Given the description of an element on the screen output the (x, y) to click on. 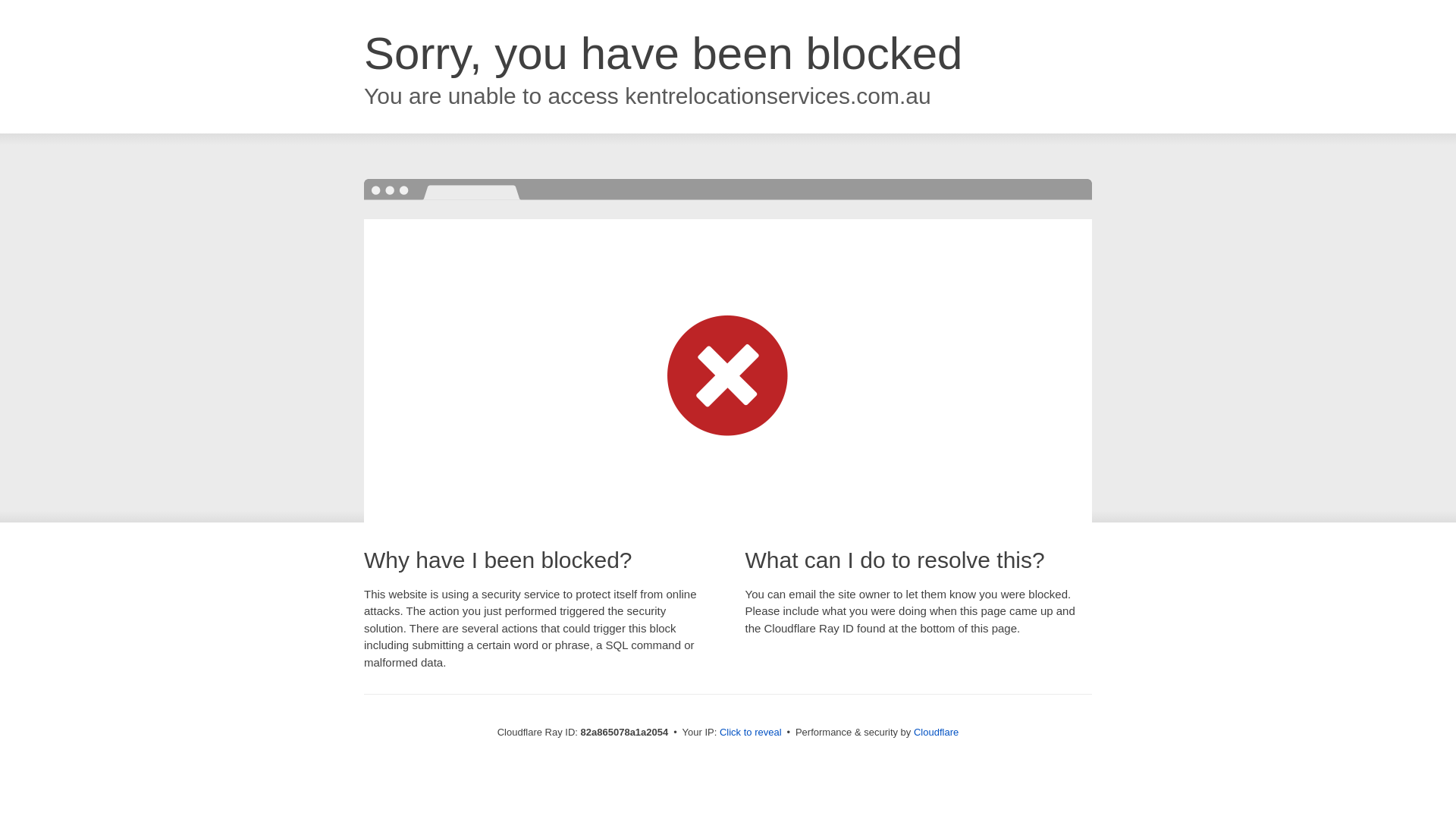
Click to reveal Element type: text (750, 732)
Cloudflare Element type: text (935, 731)
